Given the description of an element on the screen output the (x, y) to click on. 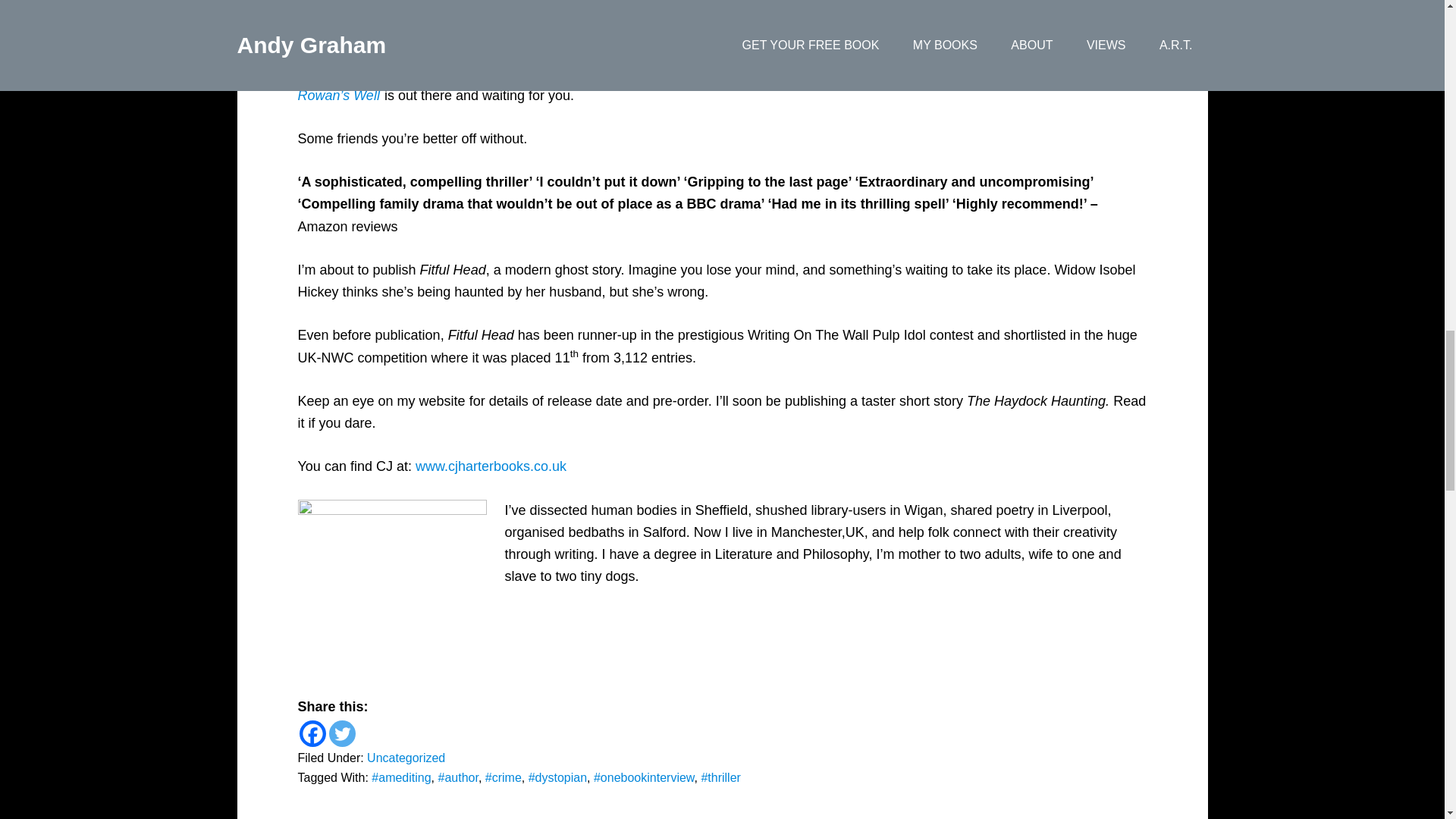
Uncategorized (405, 757)
www.cjharterbooks.co.uk (490, 466)
Twitter (342, 733)
Facebook (311, 733)
